Given the description of an element on the screen output the (x, y) to click on. 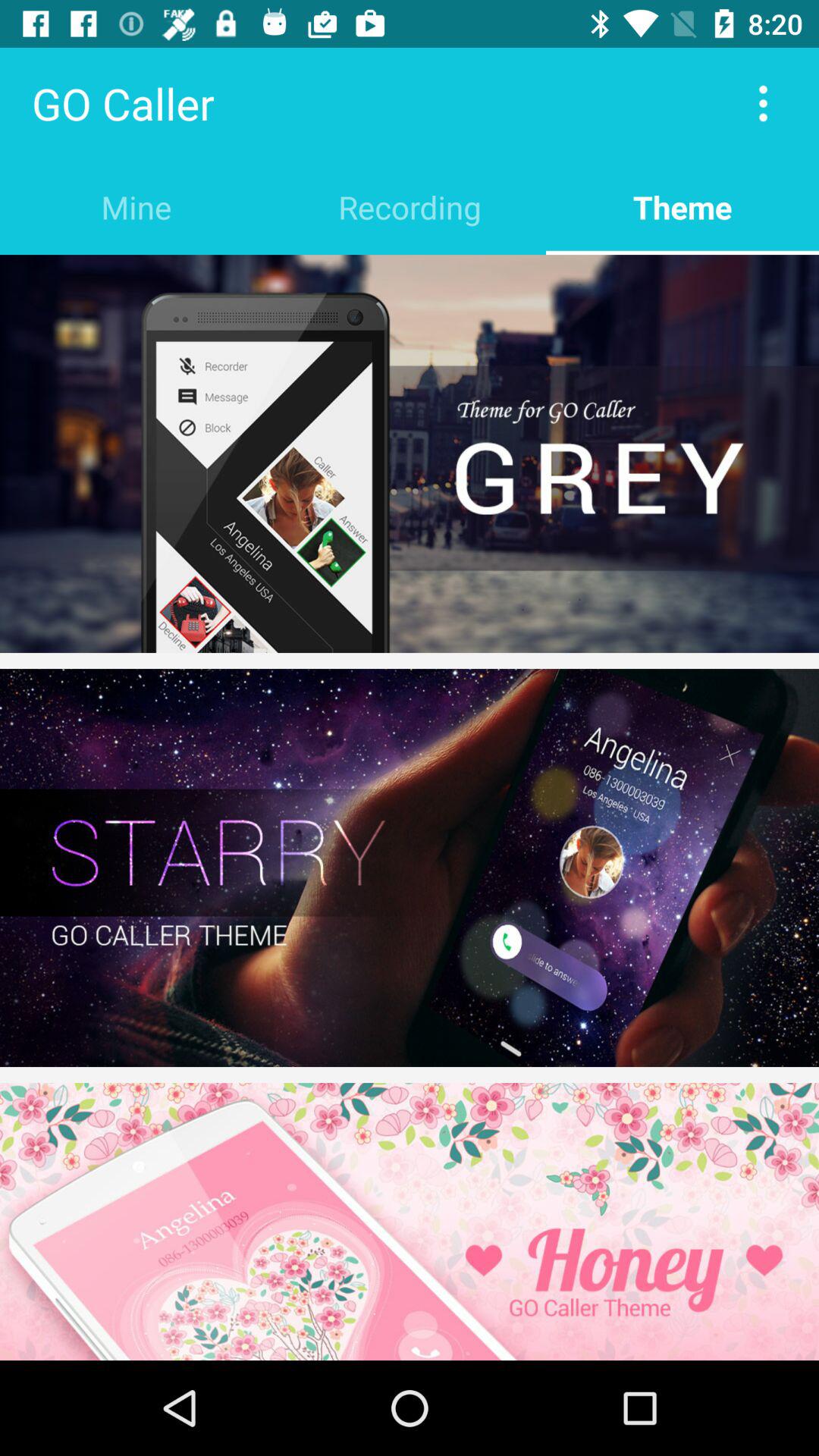
check theme (409, 1221)
